Given the description of an element on the screen output the (x, y) to click on. 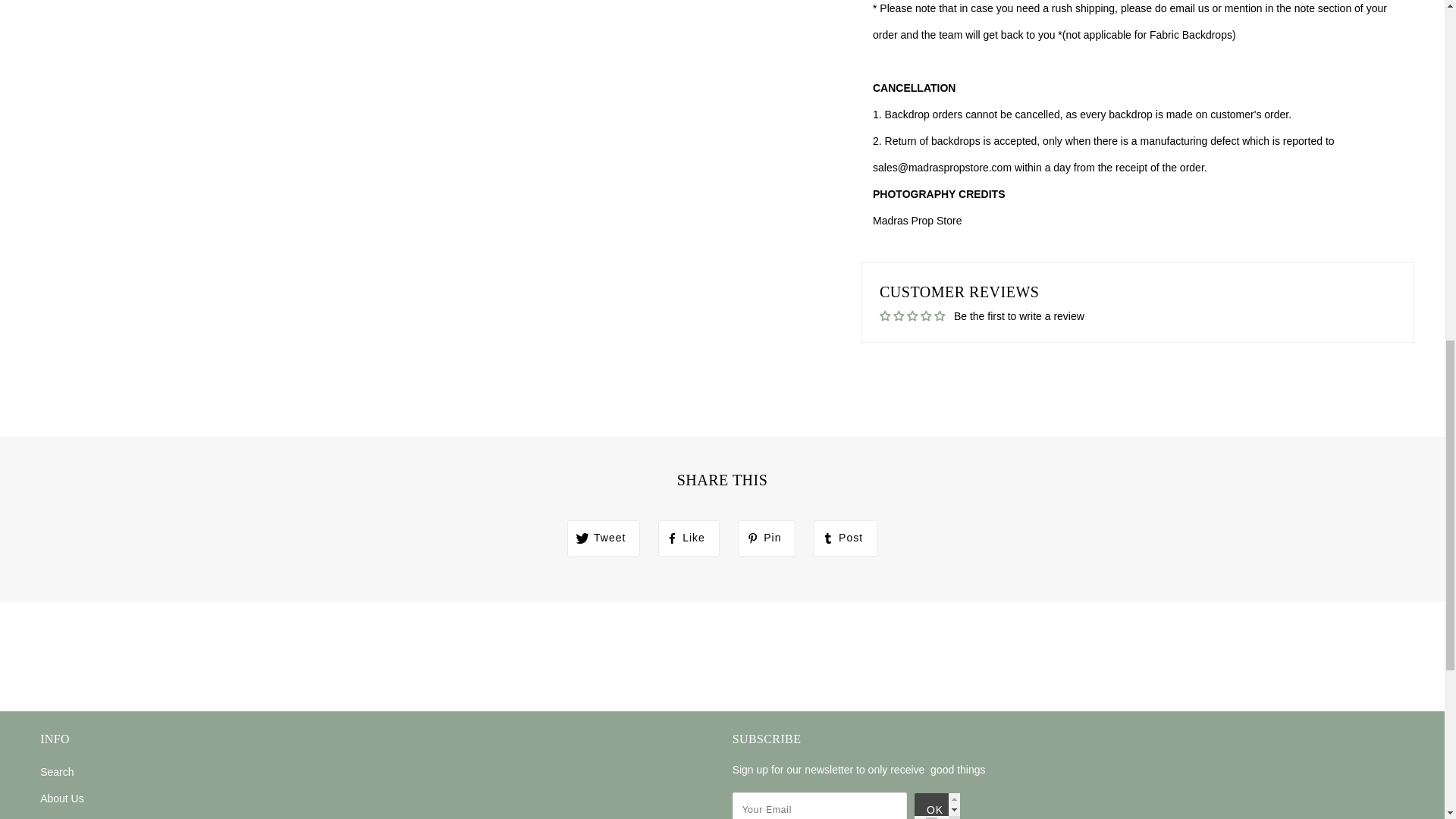
Search (57, 771)
About Us (62, 798)
Ok (936, 806)
